Given the description of an element on the screen output the (x, y) to click on. 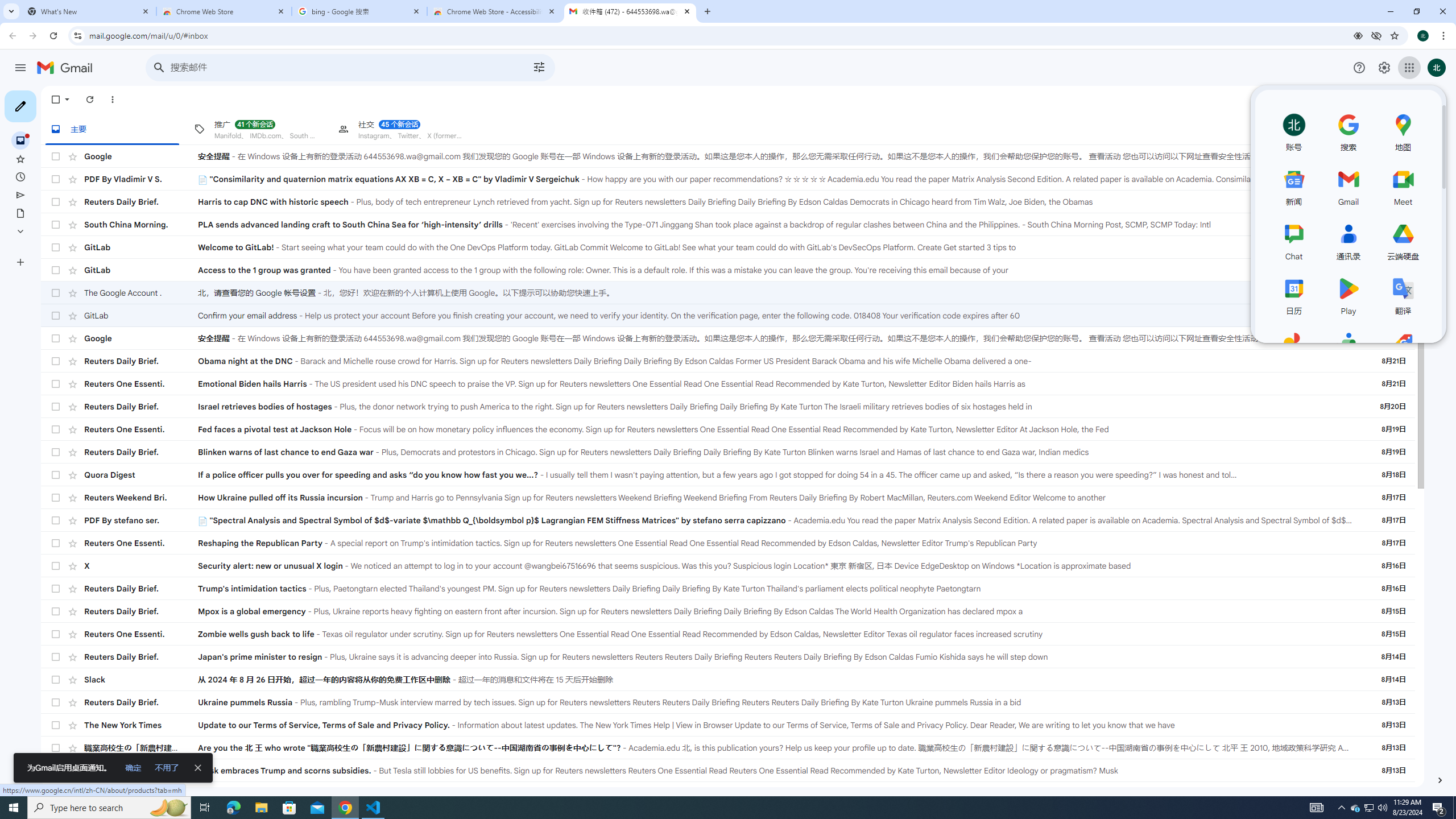
GitLab (141, 315)
Close (686, 11)
Forward (32, 35)
Reuters Daily Brief. (141, 702)
